Given the description of an element on the screen output the (x, y) to click on. 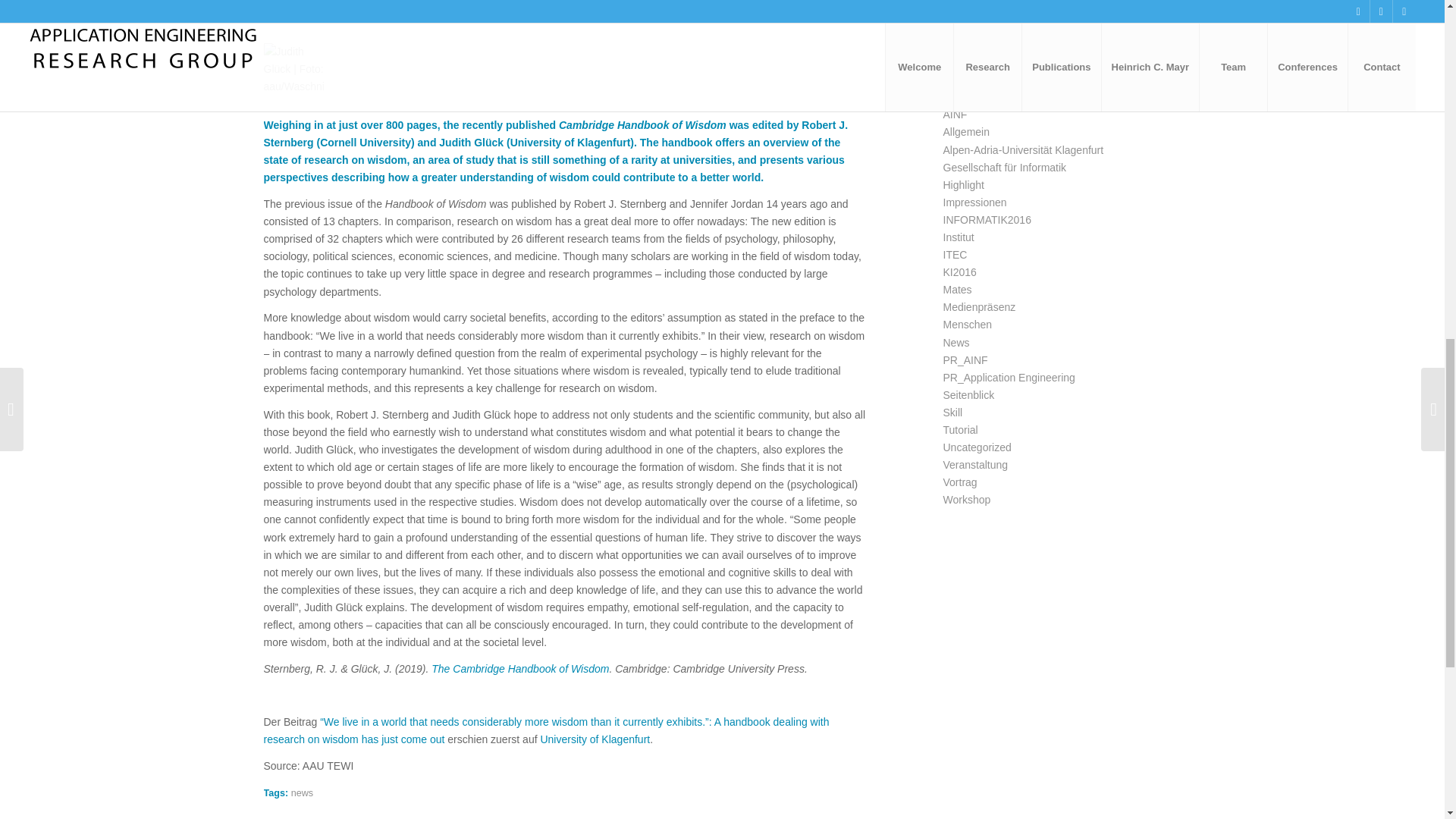
news (302, 792)
Uncategorized (359, 18)
The Cambridge Handbook of Wisdom (519, 668)
University of Klagenfurt (594, 739)
